Given the description of an element on the screen output the (x, y) to click on. 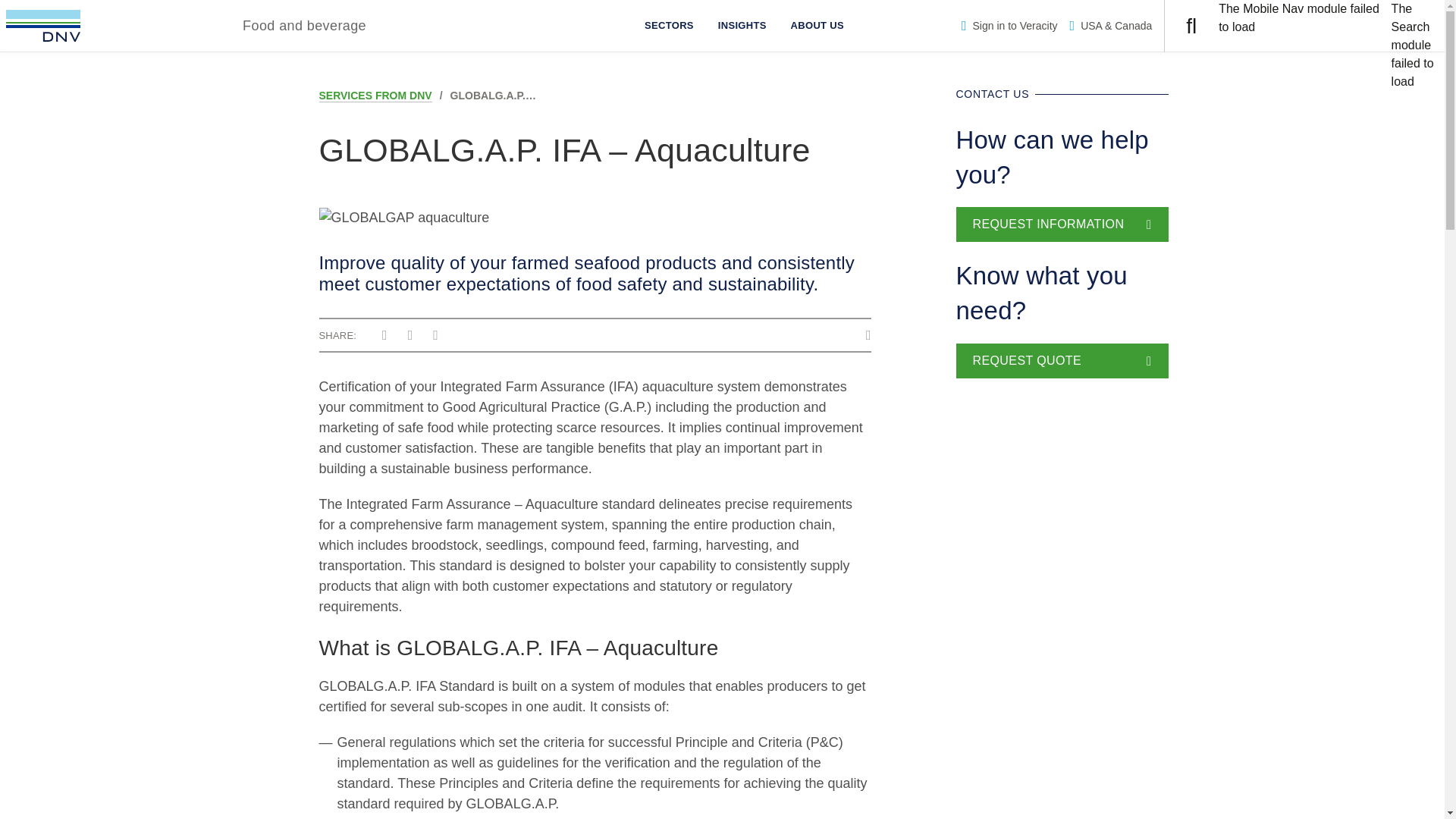
INSIGHTS (742, 25)
ABOUT US (817, 25)
Sign in to Veracity (1009, 25)
SECTORS (668, 25)
